Given the description of an element on the screen output the (x, y) to click on. 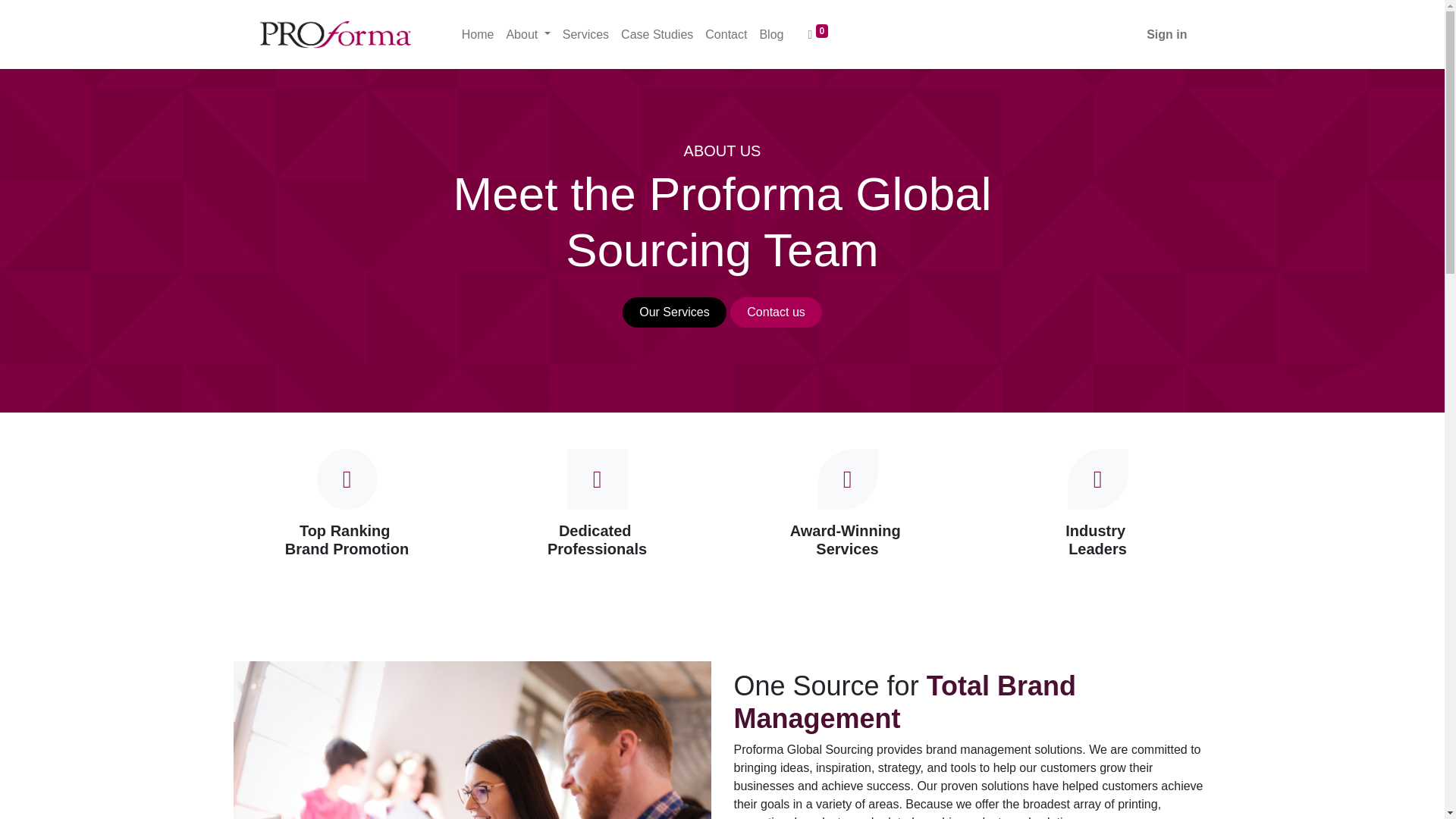
Proforma Global Sourcing (335, 34)
Blog (770, 34)
Sign in (1166, 34)
Services (585, 34)
About (527, 34)
Contact us (776, 312)
0 (818, 34)
Home (477, 34)
Our Services (674, 312)
Contact (725, 34)
